Given the description of an element on the screen output the (x, y) to click on. 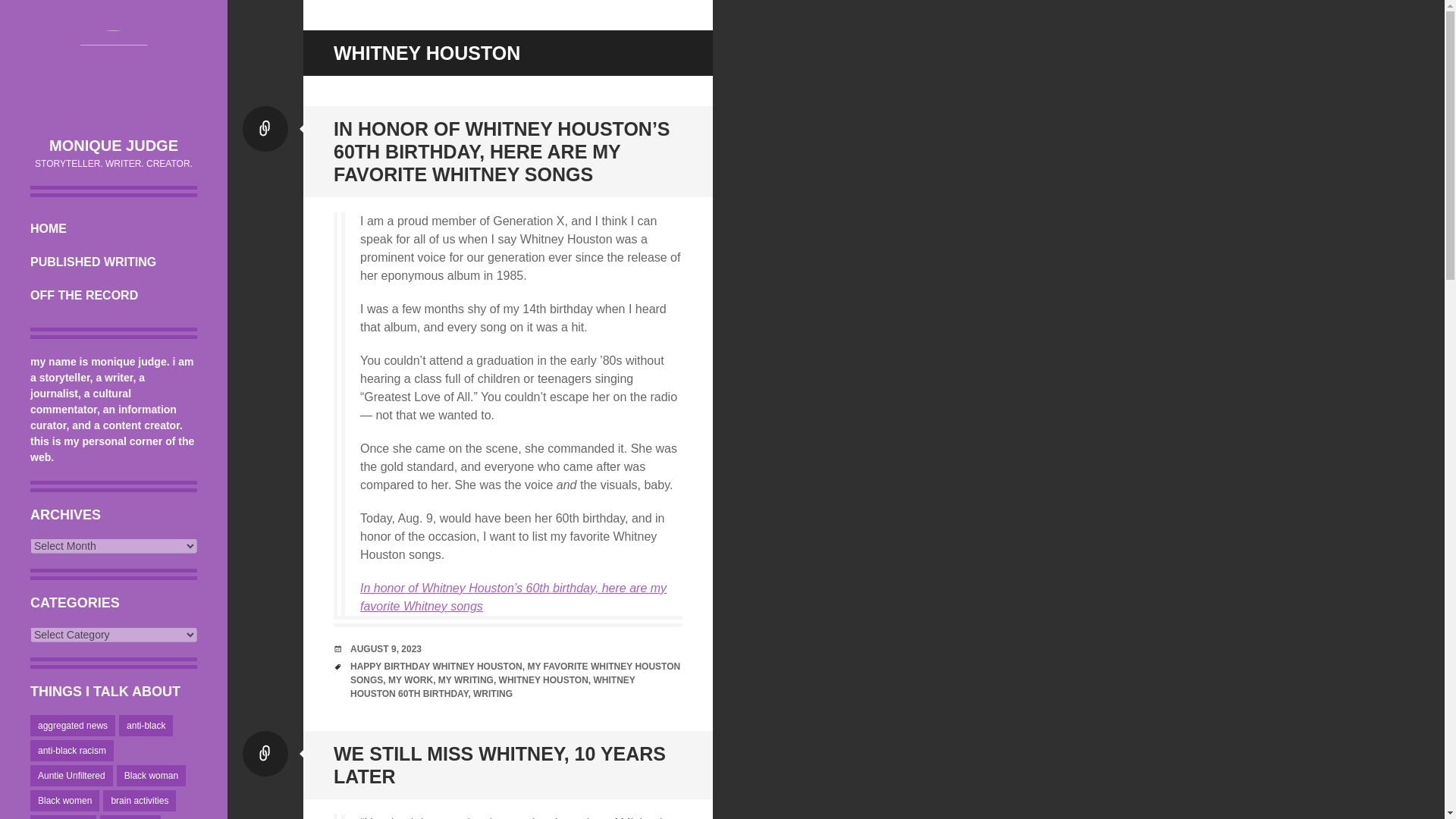
anti-black racism (71, 750)
brain game (130, 816)
Black women (64, 800)
All Link posts (265, 128)
monique judge (113, 75)
All Link posts (265, 753)
monique judge (113, 145)
brain activities (139, 800)
OFF THE RECORD (113, 295)
Black woman (151, 775)
HOME (113, 228)
aggregated news (72, 725)
Auntie Unfiltered (71, 775)
11:15 am (386, 648)
anti-black (146, 725)
